Given the description of an element on the screen output the (x, y) to click on. 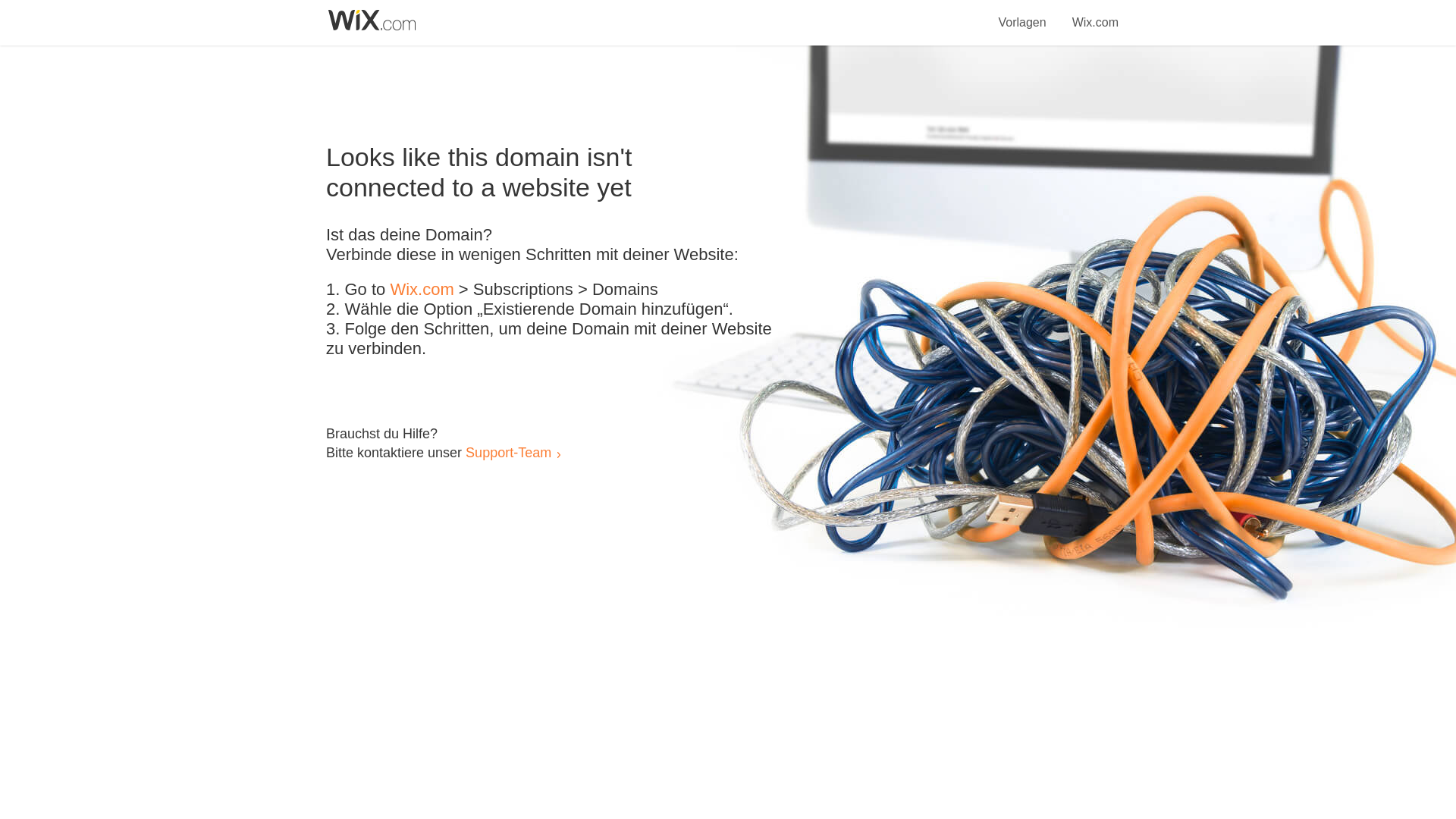
Wix.com (1095, 14)
Wix.com (421, 289)
Support-Team (508, 452)
Vorlagen (1022, 14)
